Given the description of an element on the screen output the (x, y) to click on. 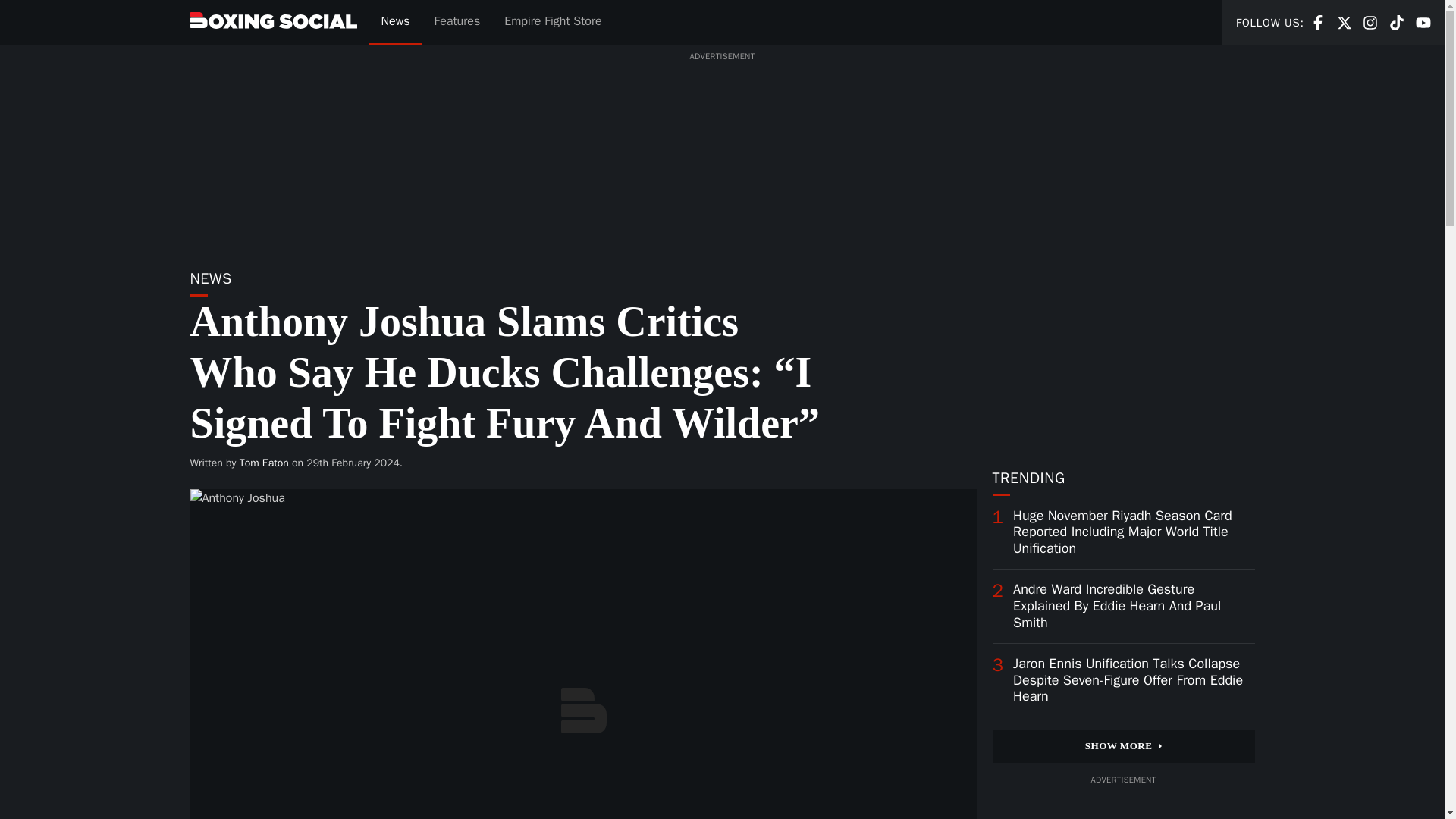
News (1423, 21)
SHOW MORE (395, 22)
Tom Eaton (1317, 21)
Empire Fight Store (1122, 745)
Features (264, 462)
